Given the description of an element on the screen output the (x, y) to click on. 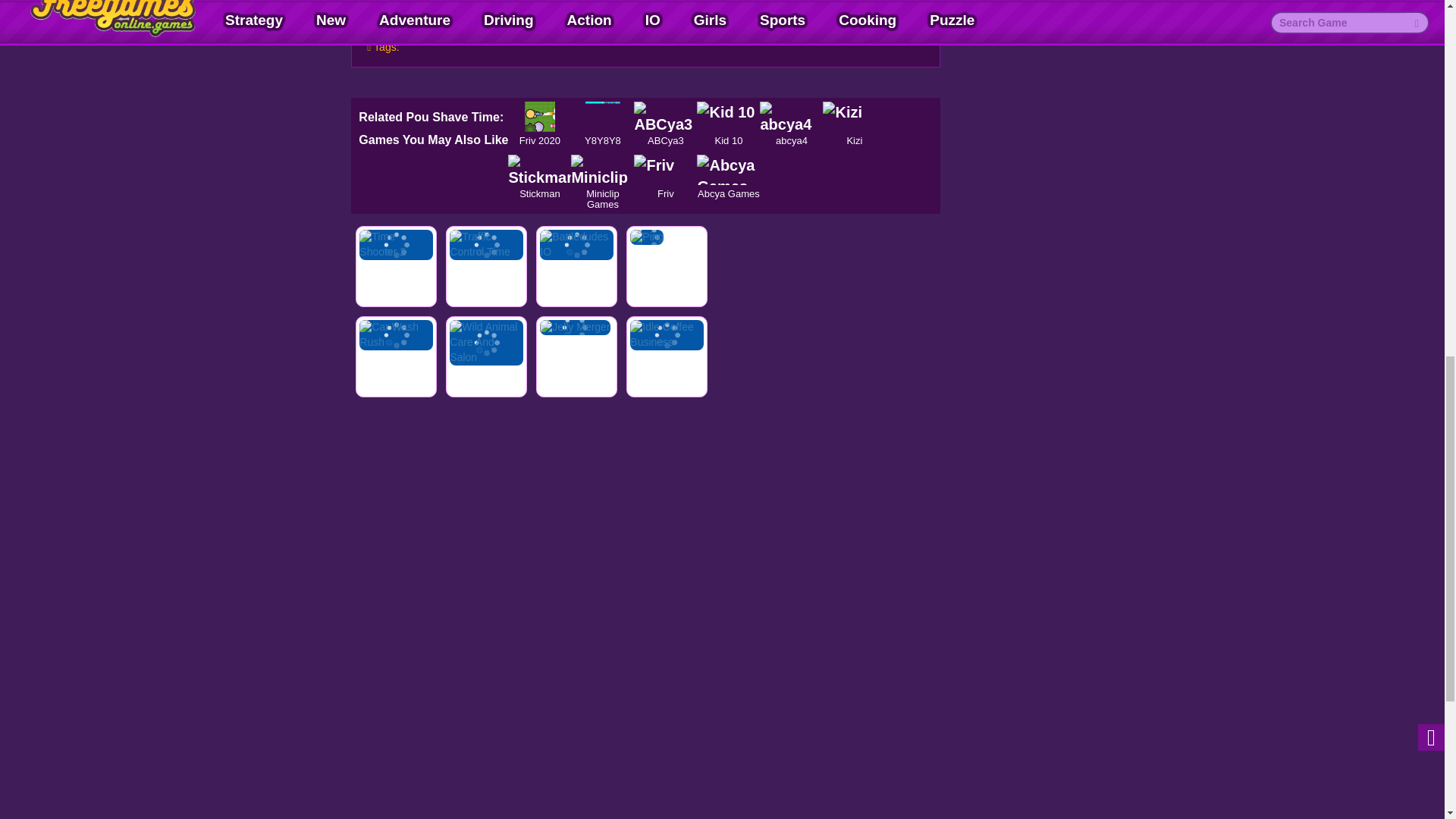
Kid 10 (728, 116)
Friv (665, 169)
Y8Y8Y8 (601, 116)
ABCya3 (665, 116)
Friv 2020 (539, 116)
Friv 2020 (539, 116)
Kizi (853, 116)
Miniclip Games (601, 169)
abcya4 (791, 116)
Stickman (539, 169)
